Given the description of an element on the screen output the (x, y) to click on. 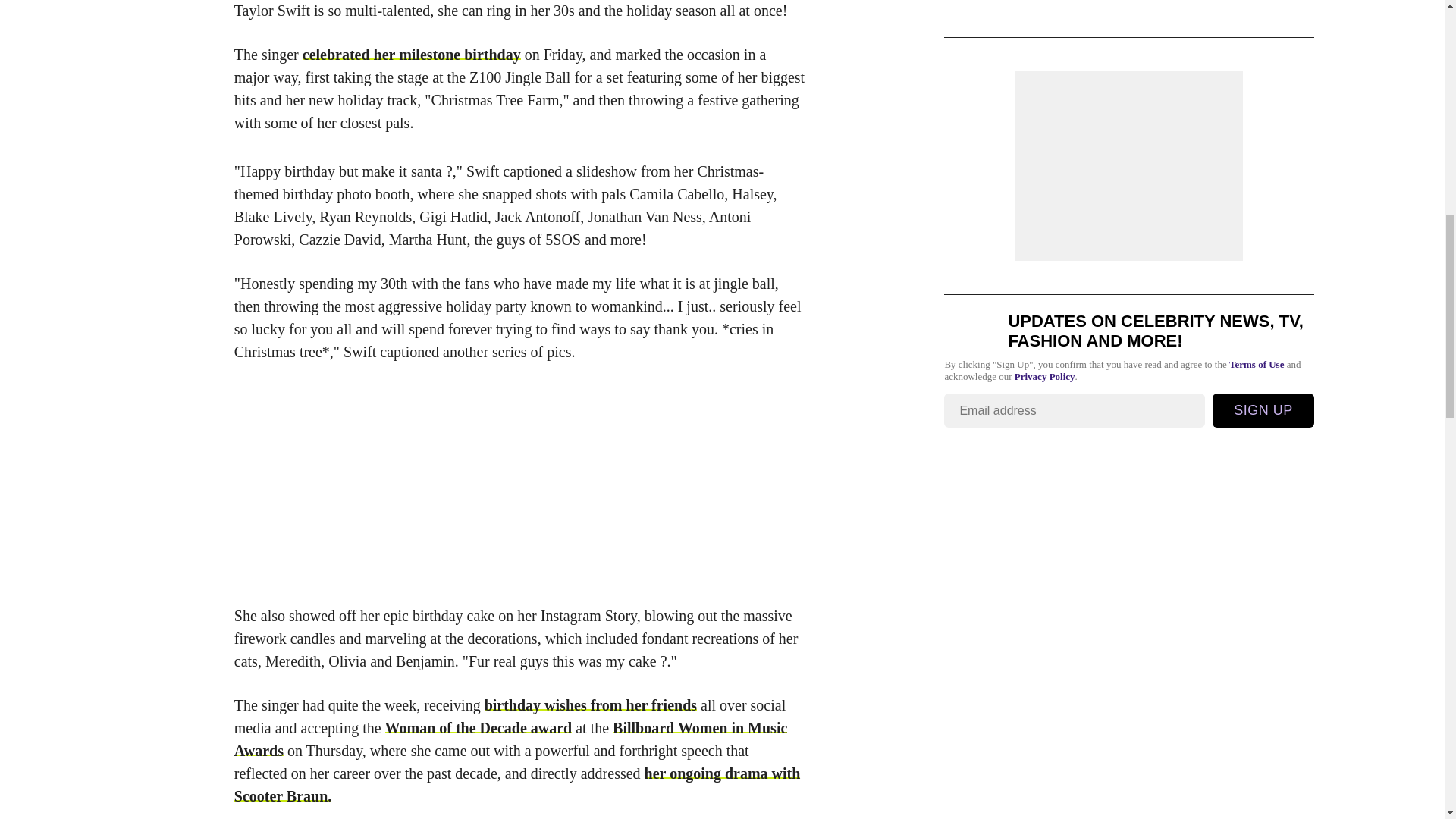
Billboard Women in Music Awards (510, 739)
Woman of the Decade award (478, 727)
her ongoing drama with Scooter Braun. (517, 784)
birthday wishes from her friends (590, 704)
celebrated her milestone birthday (411, 54)
